Given the description of an element on the screen output the (x, y) to click on. 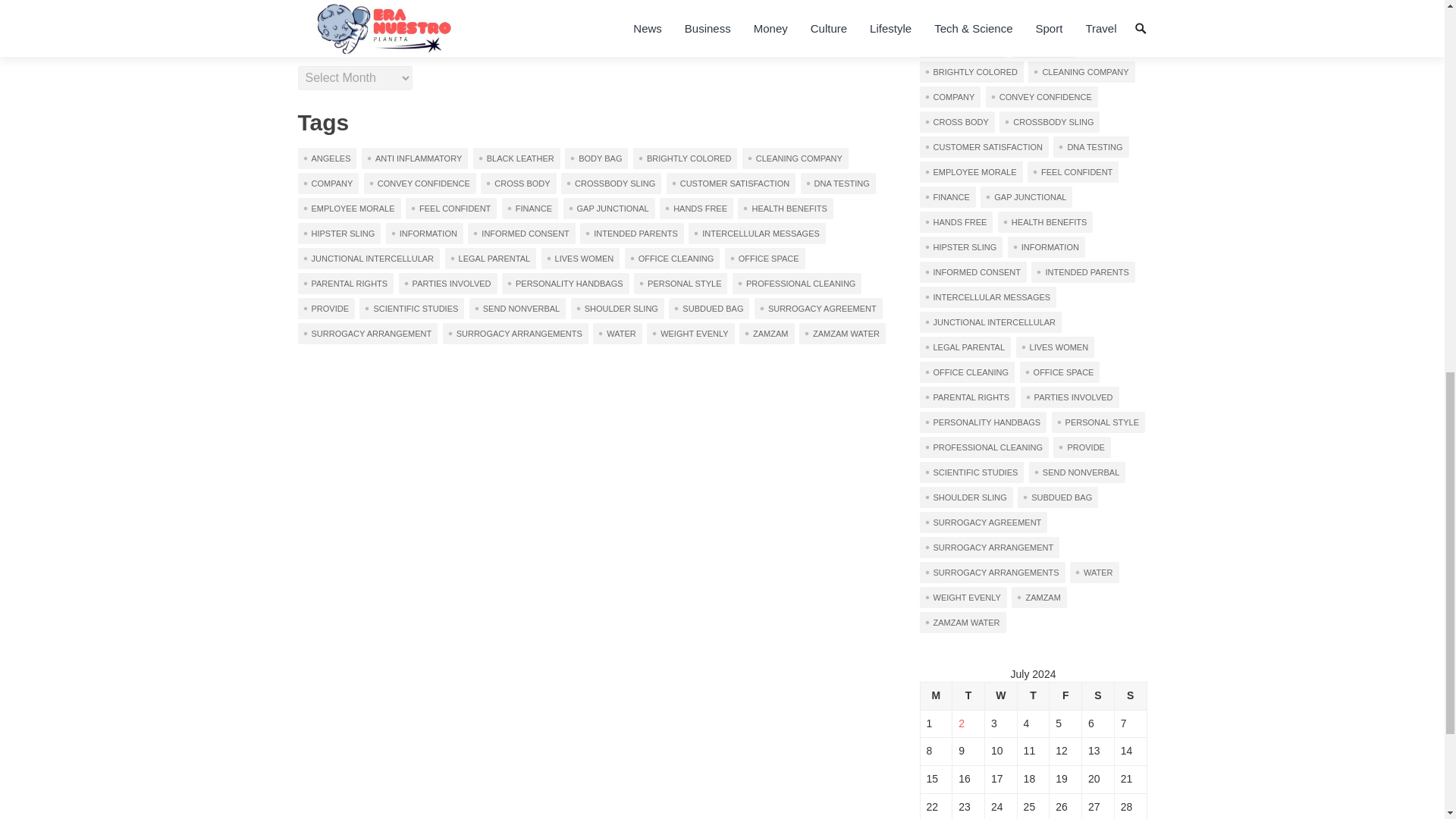
Saturday (1098, 696)
Wednesday (1000, 696)
Sunday (1130, 696)
Monday (936, 696)
Tuesday (968, 696)
Friday (1065, 696)
Thursday (1032, 696)
